Given the description of an element on the screen output the (x, y) to click on. 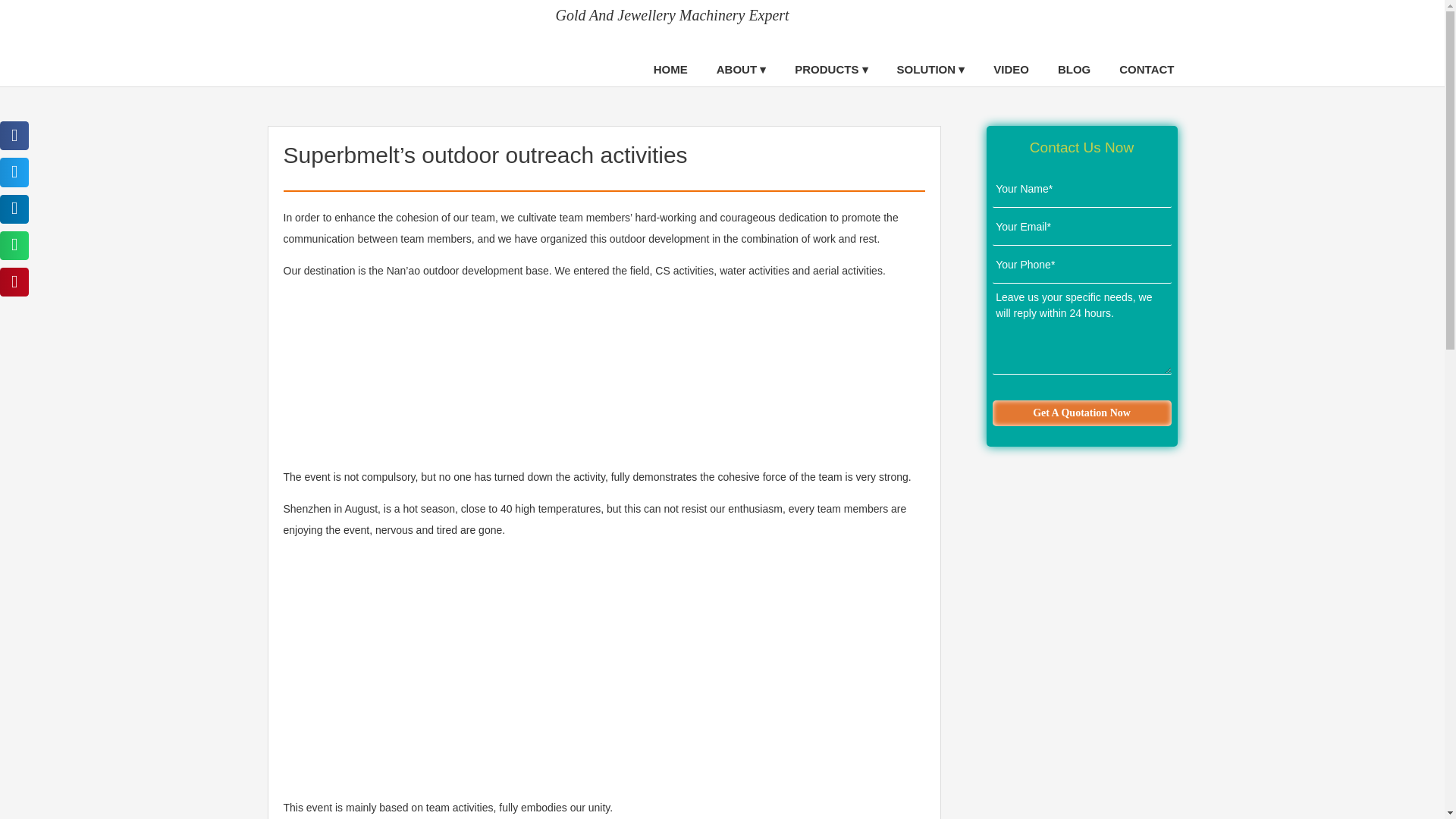
Get A Quotation Now (1080, 412)
HOME (670, 70)
